Given the description of an element on the screen output the (x, y) to click on. 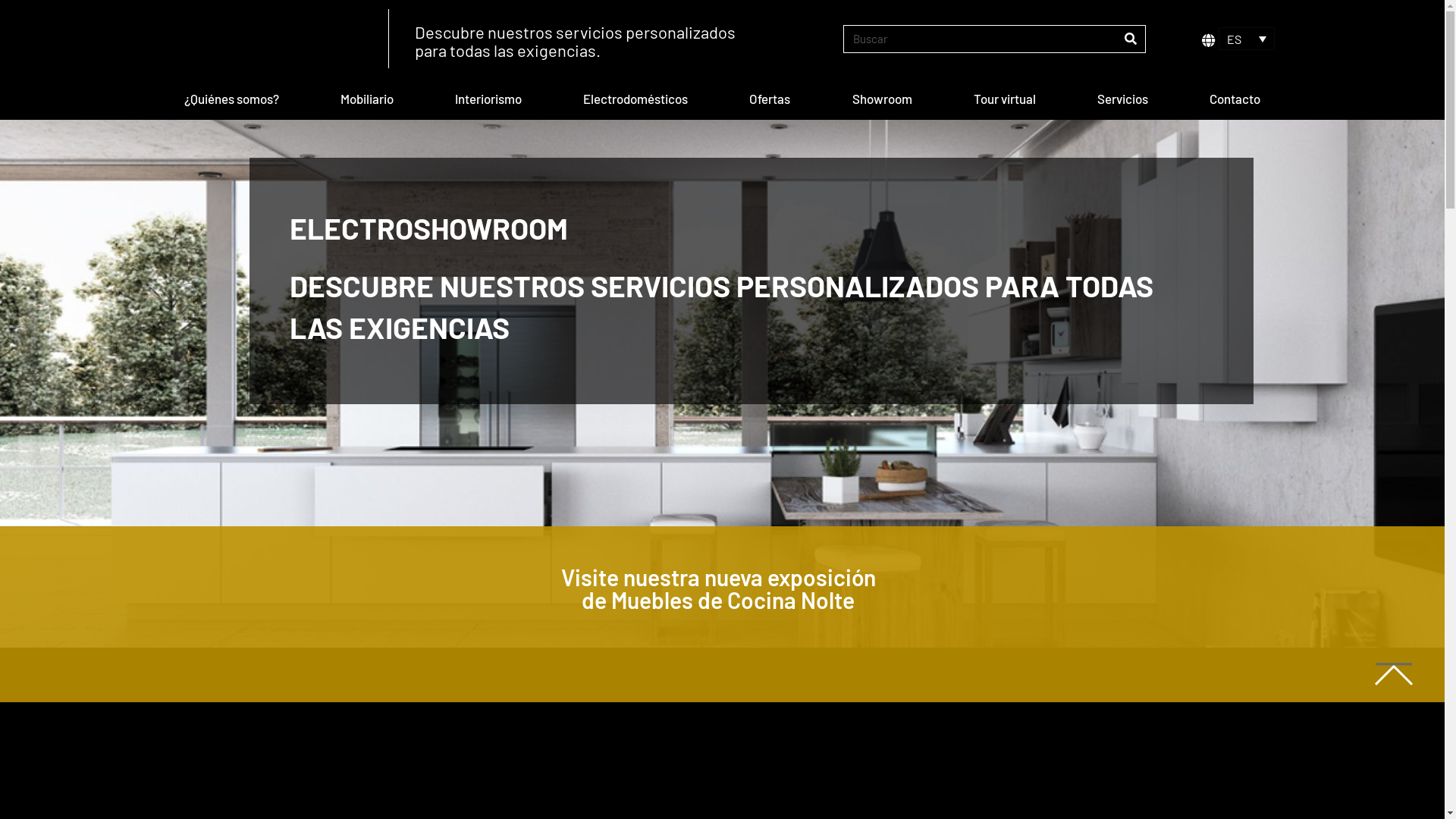
Mobiliario Element type: text (367, 98)
Tour virtual Element type: text (1004, 98)
Showroom Element type: text (881, 98)
Ofertas Element type: text (769, 98)
Interiorismo Element type: text (488, 98)
Contacto Element type: text (1234, 98)
Servicios Element type: text (1122, 98)
ES Element type: text (1246, 38)
